Given the description of an element on the screen output the (x, y) to click on. 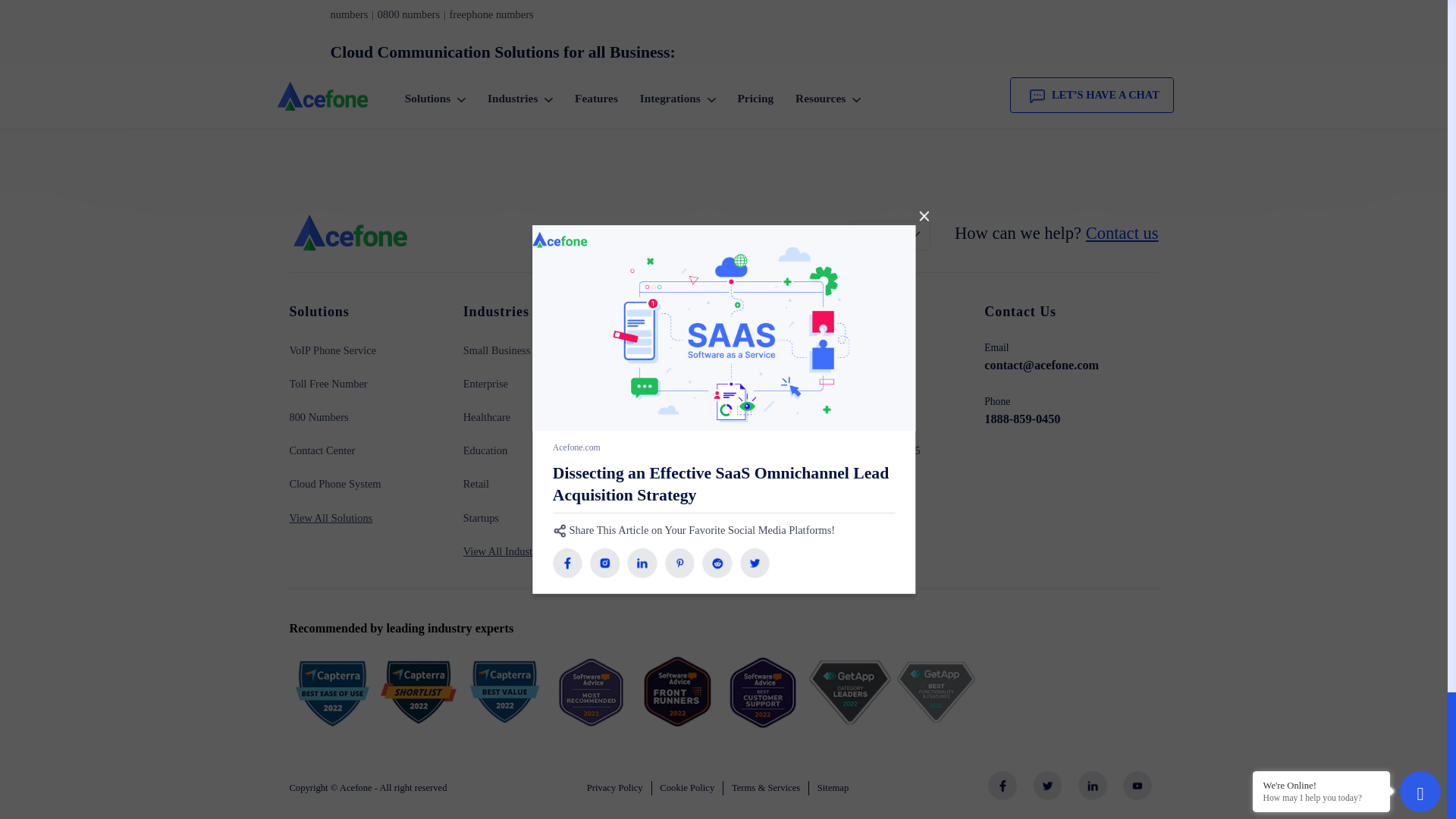
Acefone logo (388, 746)
